Given the description of an element on the screen output the (x, y) to click on. 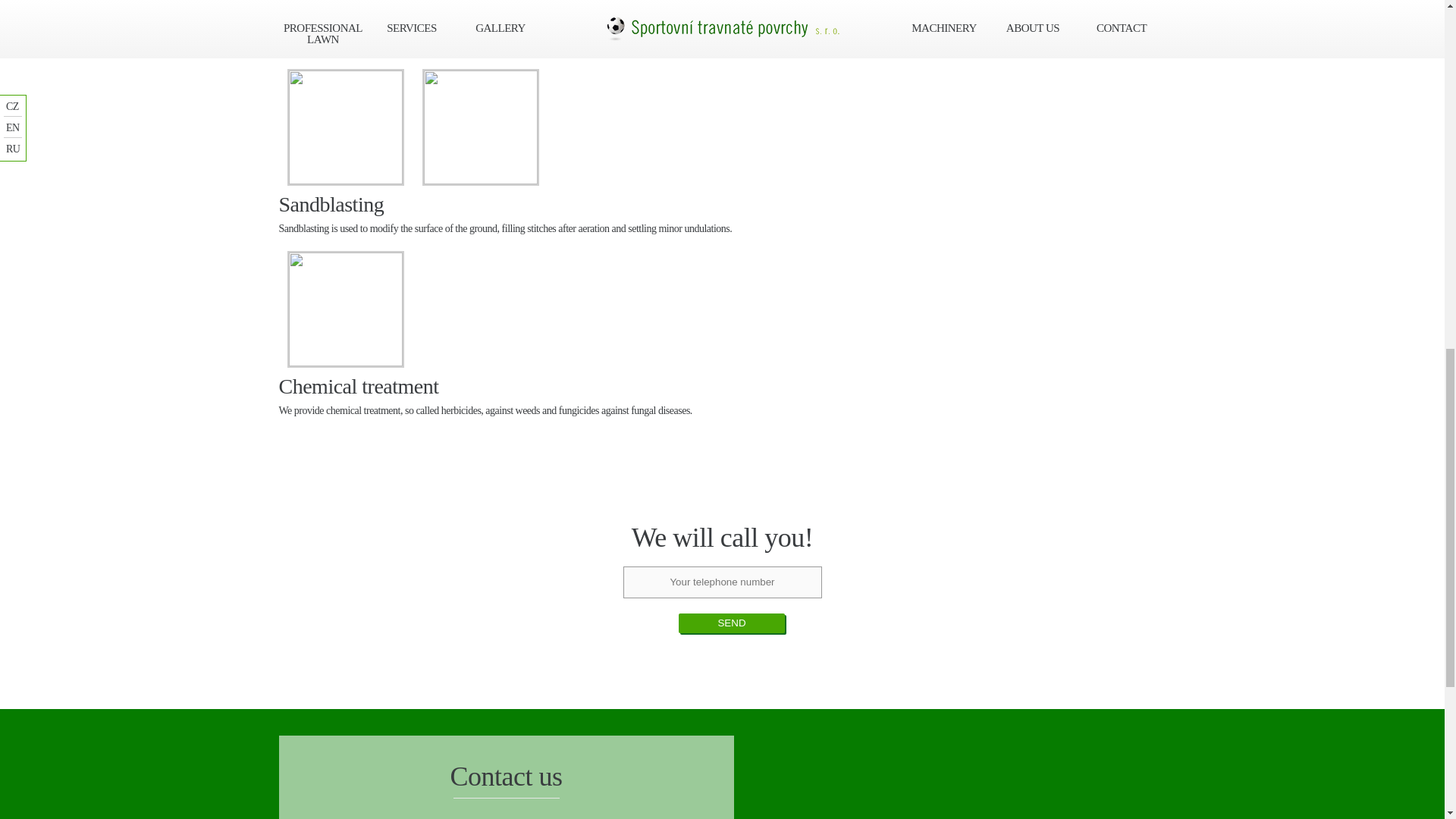
Send (731, 623)
Send (731, 623)
